Given the description of an element on the screen output the (x, y) to click on. 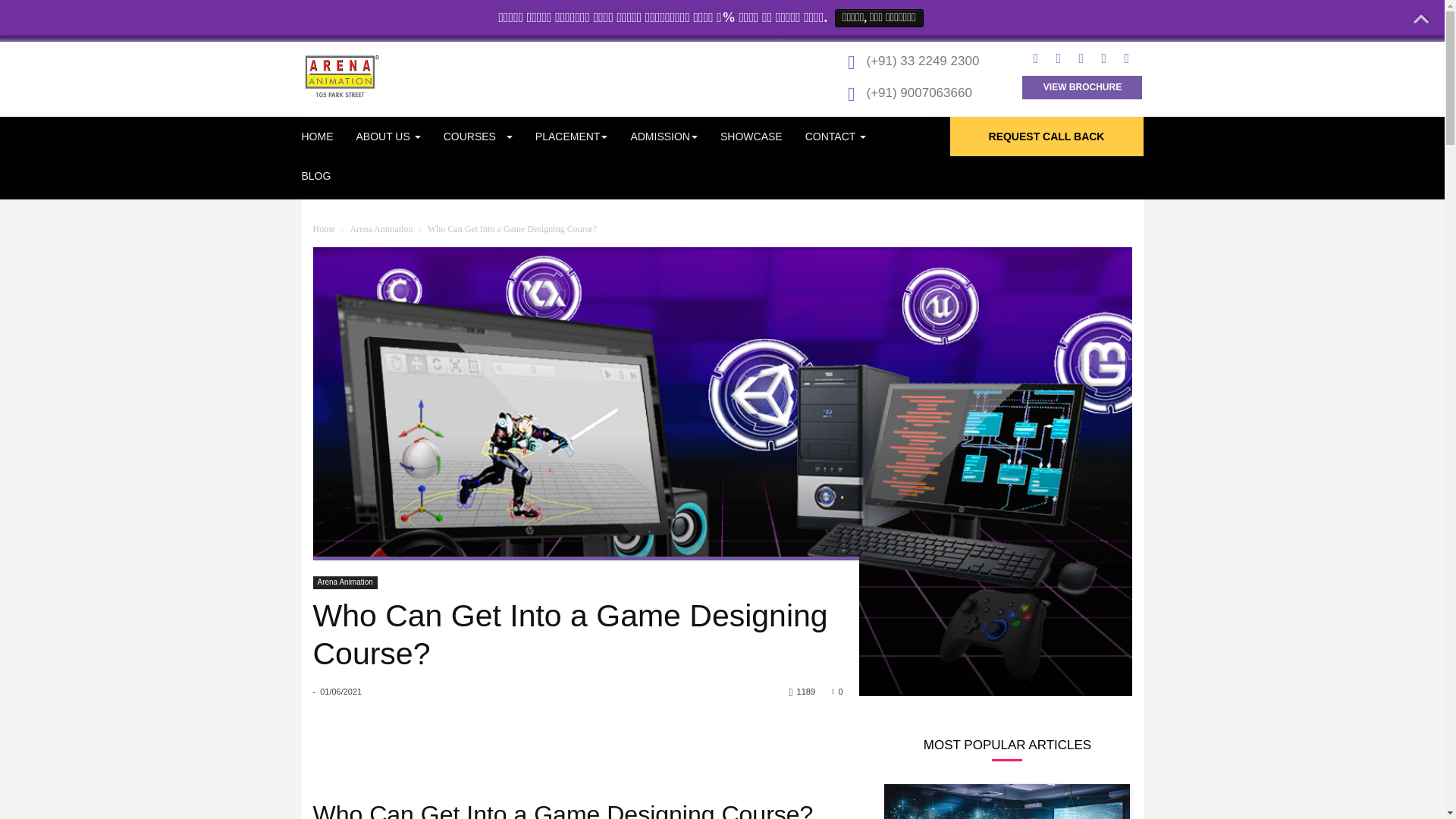
AI ENABLED COURSES NEW (549, 171)
REALTIME-3D (749, 171)
HOME (328, 136)
COURSES (471, 136)
ABOUT US (400, 136)
DIGITAL CONTENT CREATION - MOTION DESIGN (749, 178)
APS AT A GLANCE (461, 171)
VIEW BROCHURE (1082, 87)
